Given the description of an element on the screen output the (x, y) to click on. 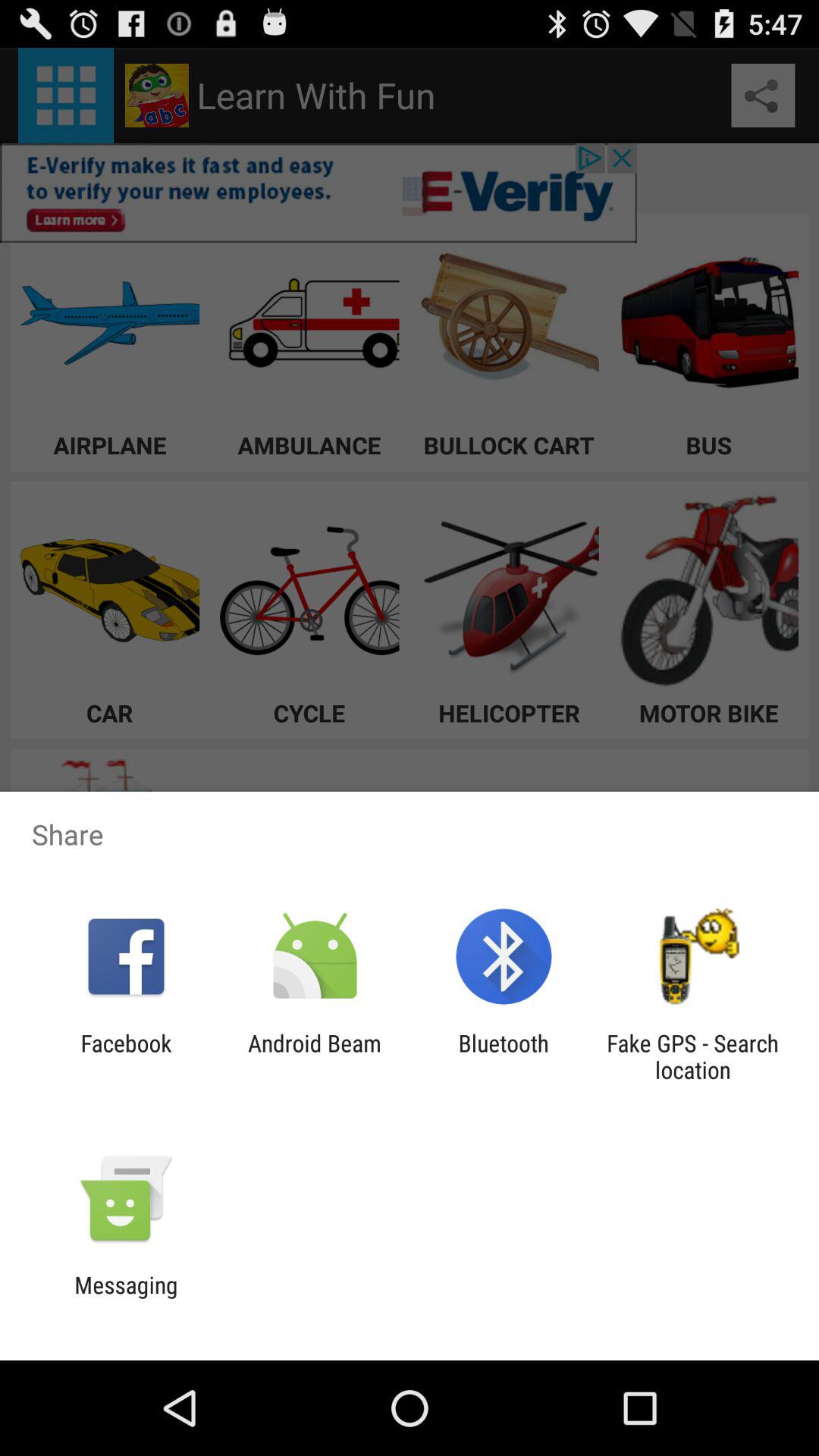
click app to the left of android beam app (125, 1056)
